Given the description of an element on the screen output the (x, y) to click on. 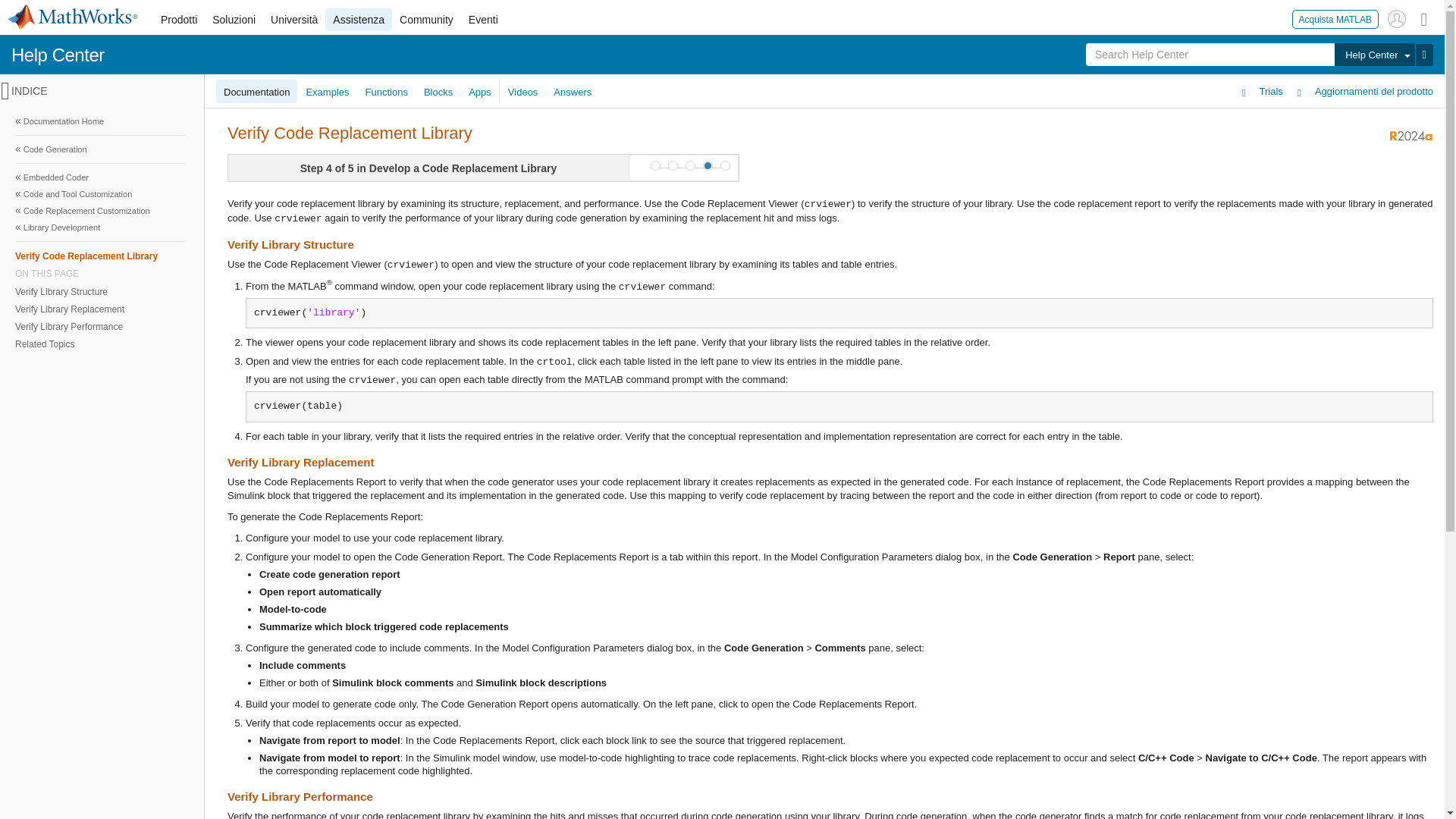
Embedded Coder (100, 176)
Accedere al proprio MathWorks Account (1396, 18)
ON THIS PAGE (100, 273)
Soluzioni (234, 19)
Community (426, 19)
Matrix Menu (1423, 18)
Code Replacement Customization (100, 210)
Verify Code Replacement Library (100, 255)
Acquista MATLAB (1335, 18)
